Given the description of an element on the screen output the (x, y) to click on. 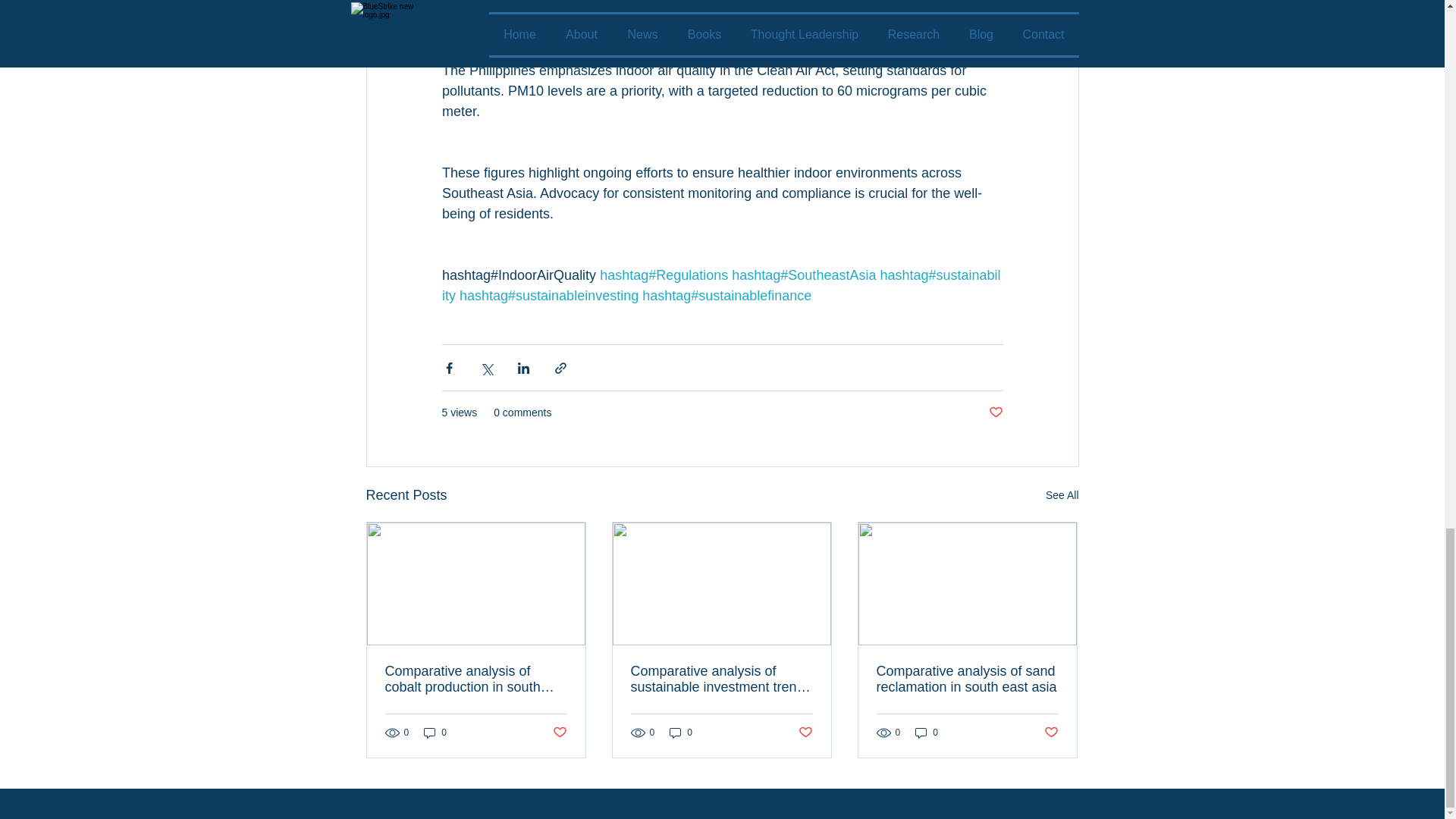
Post not marked as liked (995, 412)
Comparative analysis of sand reclamation in south east asia (967, 679)
Post not marked as liked (1050, 732)
Post not marked as liked (558, 732)
0 (926, 732)
0 (681, 732)
0 (435, 732)
Comparative analysis of cobalt production in south east asia (476, 679)
See All (1061, 495)
